Given the description of an element on the screen output the (x, y) to click on. 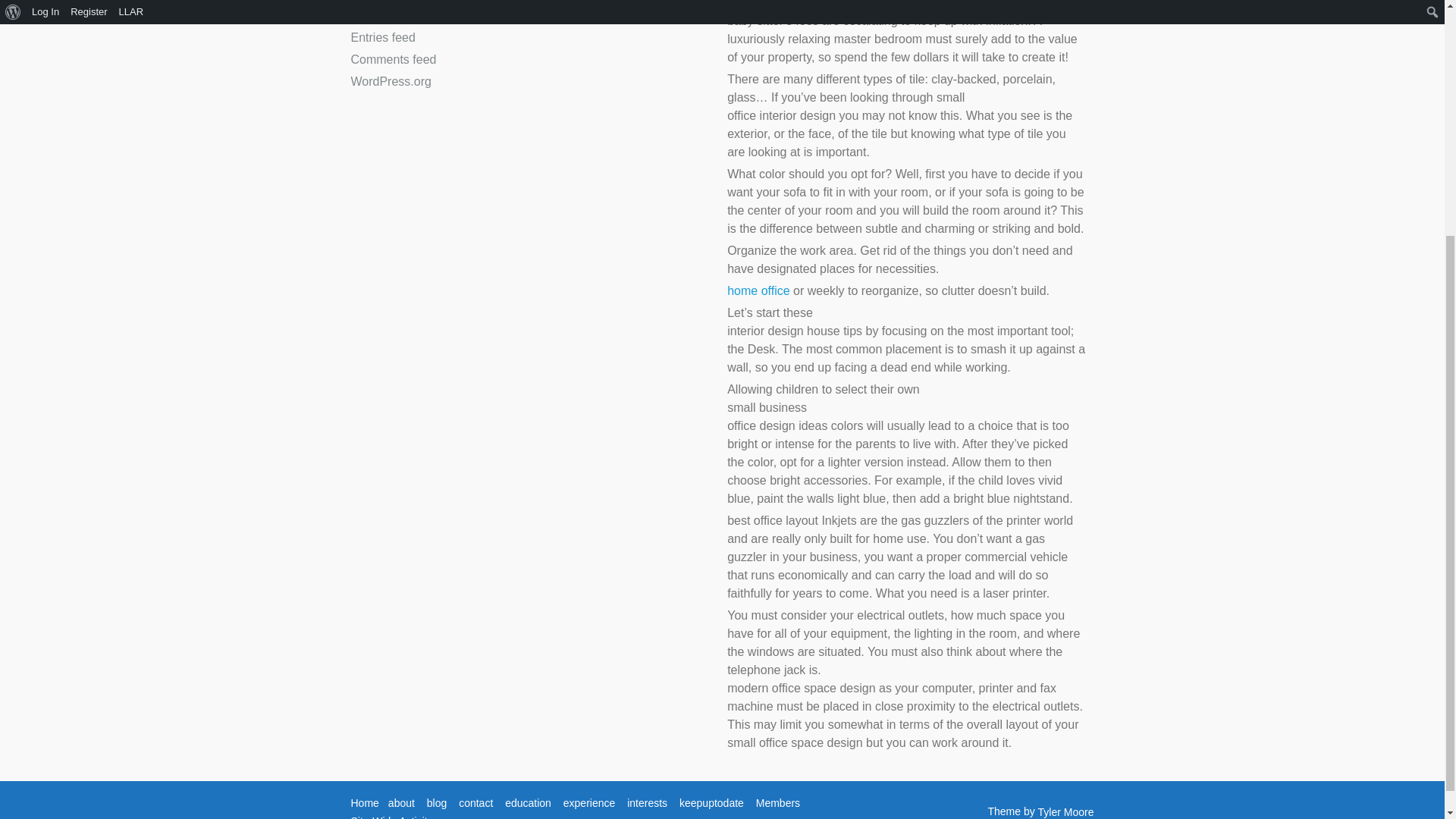
Home (364, 802)
keepuptodate (711, 802)
WordPress.org (390, 81)
Register (373, 0)
Comments feed (392, 59)
education (528, 802)
blog (436, 802)
home office (757, 290)
contact (475, 802)
Log in (367, 15)
Members (777, 802)
interests (646, 802)
experience (589, 802)
about (401, 802)
Entries feed (382, 37)
